Given the description of an element on the screen output the (x, y) to click on. 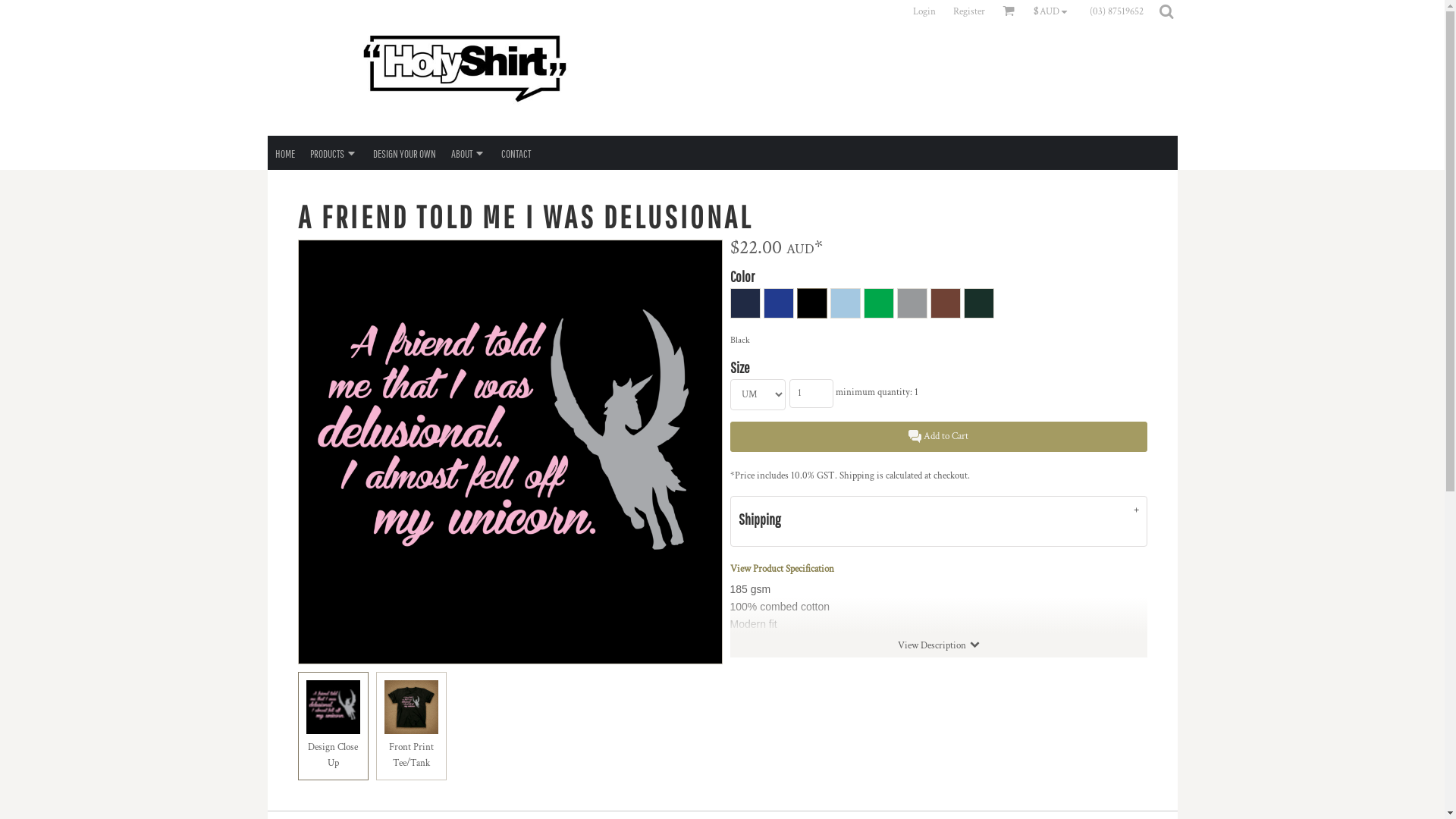
Navy Element type: hover (744, 303)
View Product Specification Element type: text (781, 568)
Brown Element type: hover (944, 303)
as Element type: text (11, 7)
HOME Element type: text (284, 152)
ABOUT Element type: text (467, 152)
Front Print Tee/Tank Element type: text (411, 725)
Light Blue Element type: hover (844, 303)
Irish Green Element type: hover (877, 303)
Login Element type: text (924, 10)
CONTACT Element type: text (515, 152)
DESIGN YOUR OWN Element type: text (404, 152)
Sport Grey Element type: hover (911, 303)
PRODUCTS Element type: text (333, 152)
Forest Green Element type: hover (978, 303)
Design Close Up Element type: text (332, 725)
Add to Cart Element type: text (937, 436)
Black Element type: hover (811, 303)
Royal Blue Element type: hover (777, 303)
Register Element type: text (969, 10)
